Given the description of an element on the screen output the (x, y) to click on. 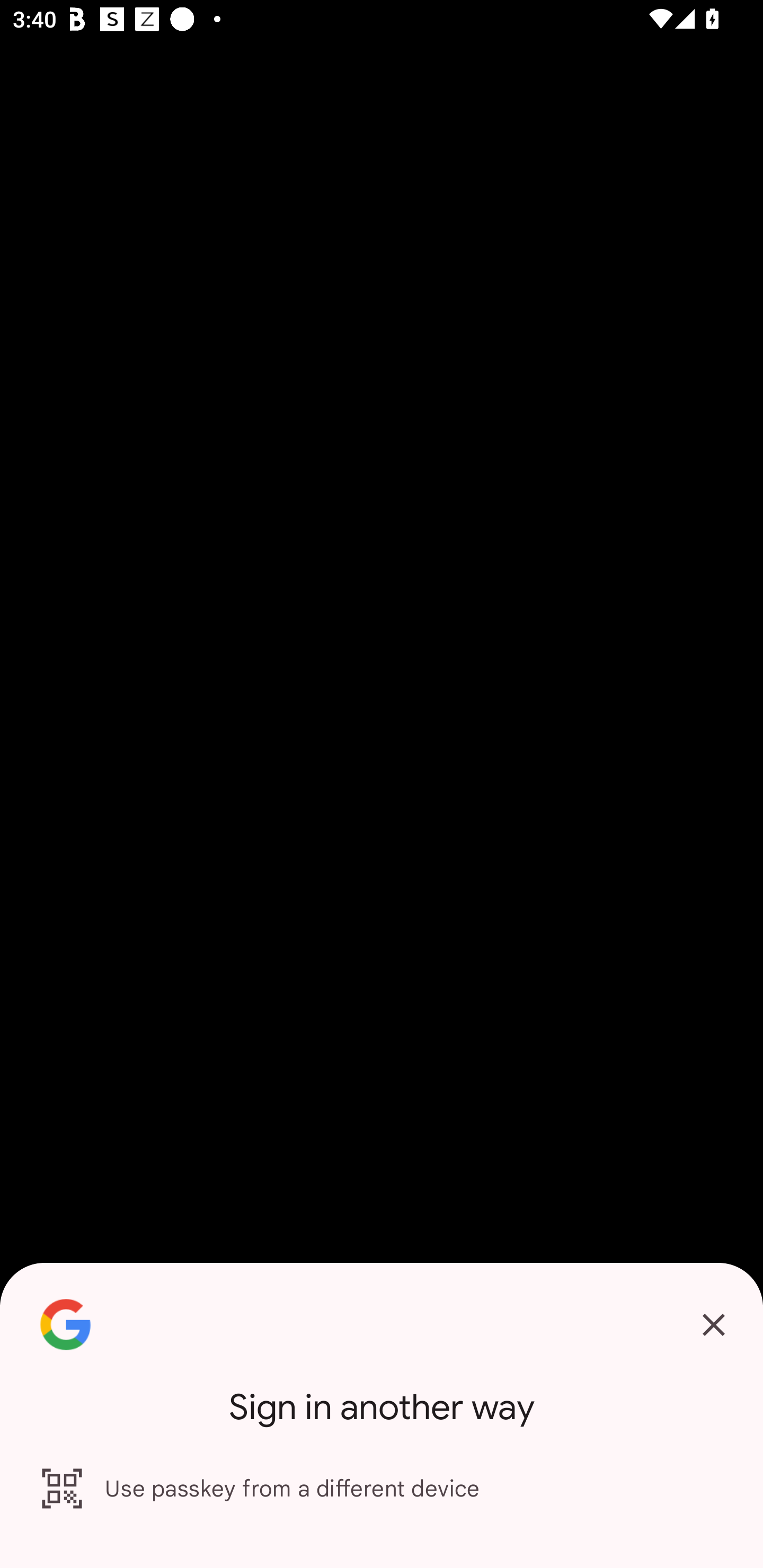
Cancel (713, 1324)
Use passkey from a different device (381, 1488)
